Given the description of an element on the screen output the (x, y) to click on. 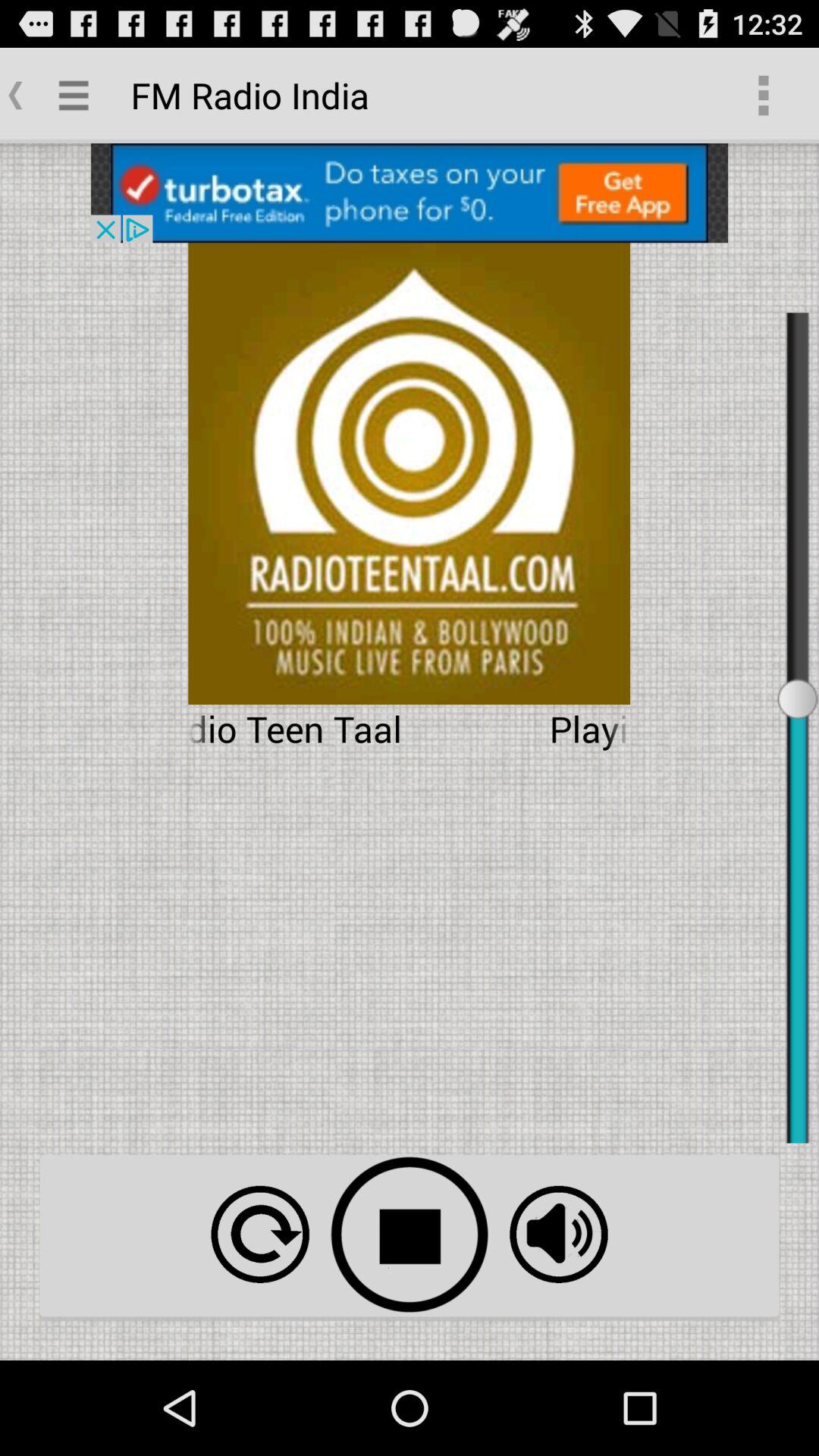
announcement (409, 192)
